Given the description of an element on the screen output the (x, y) to click on. 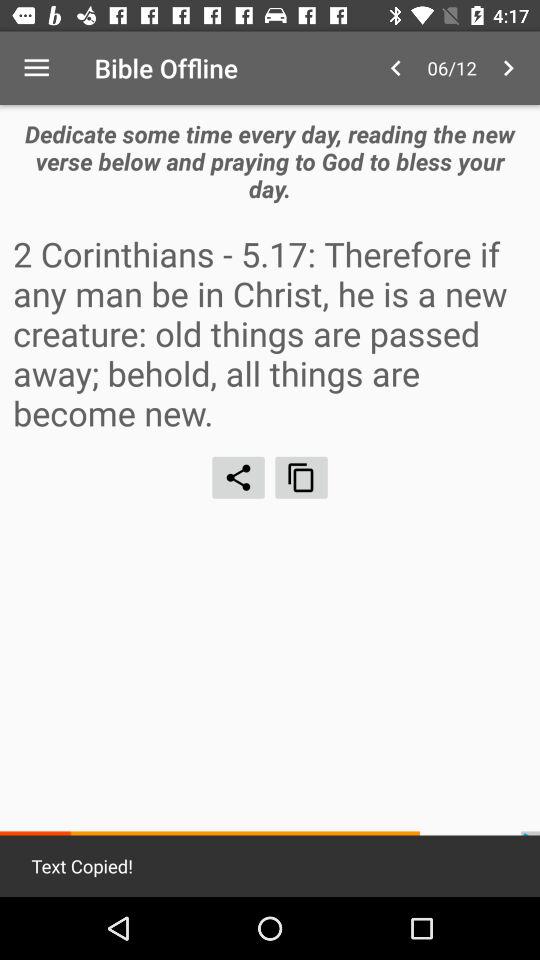
press item to the right of the 06/12 icon (508, 67)
